Given the description of an element on the screen output the (x, y) to click on. 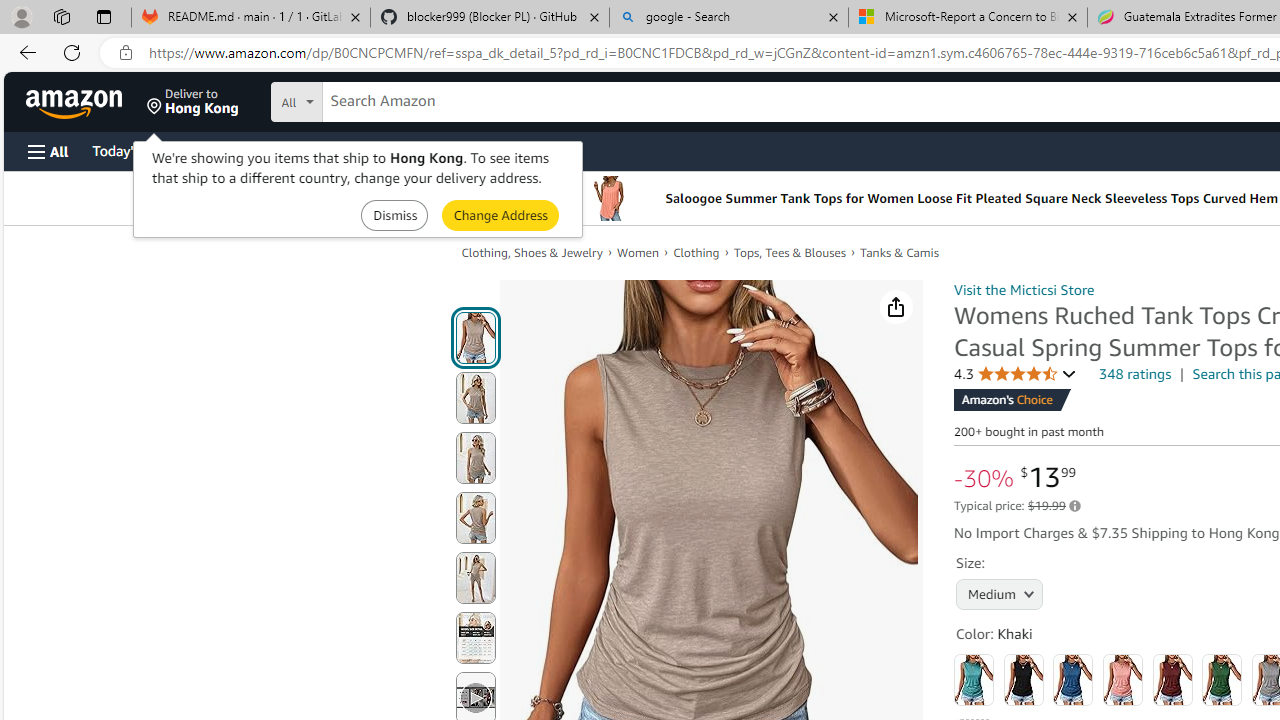
Today's Deals (134, 150)
Tops, Tees & Blouses (789, 251)
Customer Service (256, 150)
Open Menu (48, 151)
Blue (1073, 679)
Blue (1073, 679)
Tanks & Camis (899, 251)
Registry (360, 150)
Change Address (499, 214)
Tops, Tees & Blouses (789, 252)
